Given the description of an element on the screen output the (x, y) to click on. 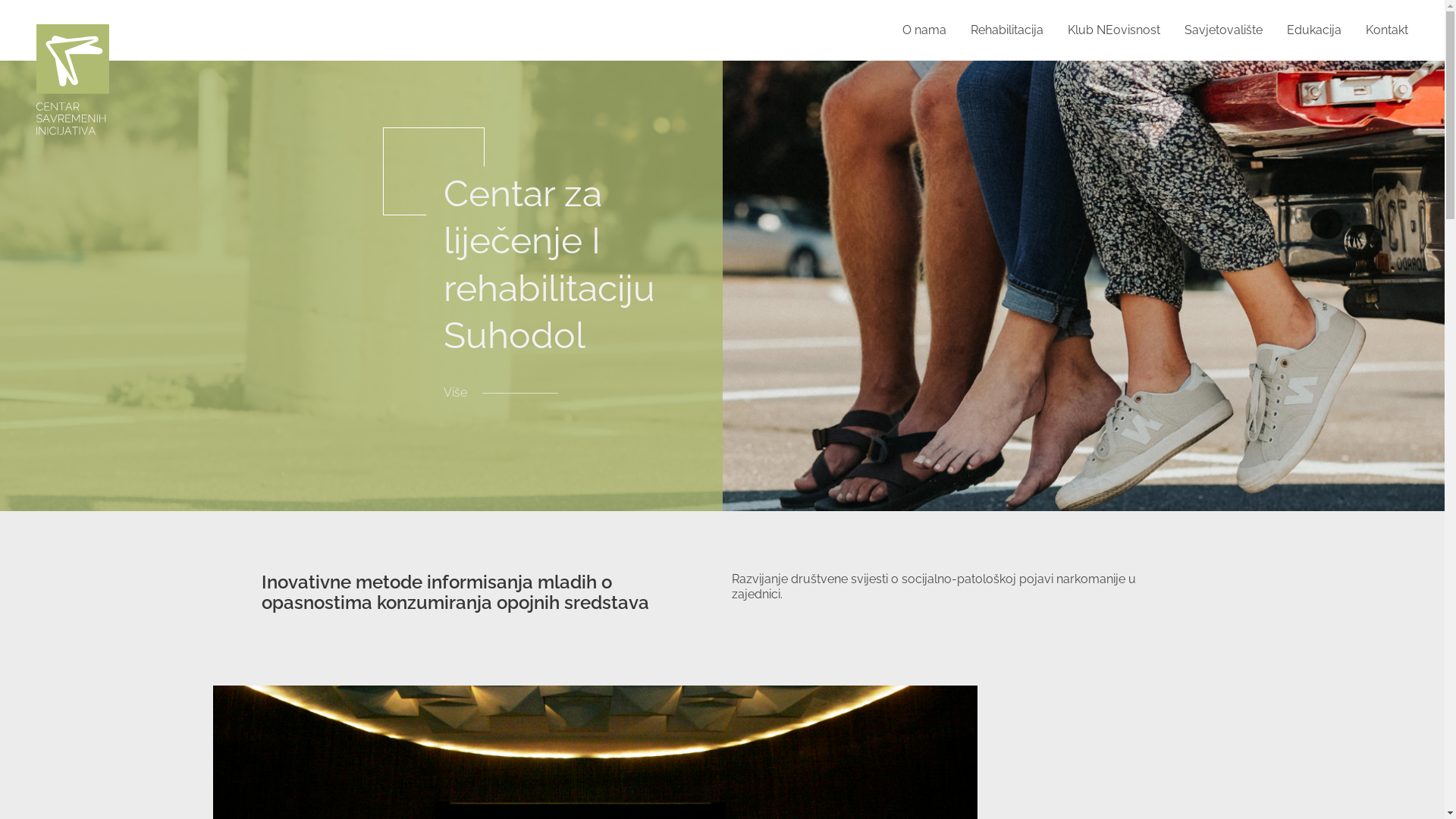
Kontakt Element type: text (1386, 30)
Edukacija Element type: text (1313, 30)
Rehabilitacija Element type: text (1006, 30)
O nama Element type: text (924, 30)
Klub NEovisnost Element type: text (1113, 30)
